Given the description of an element on the screen output the (x, y) to click on. 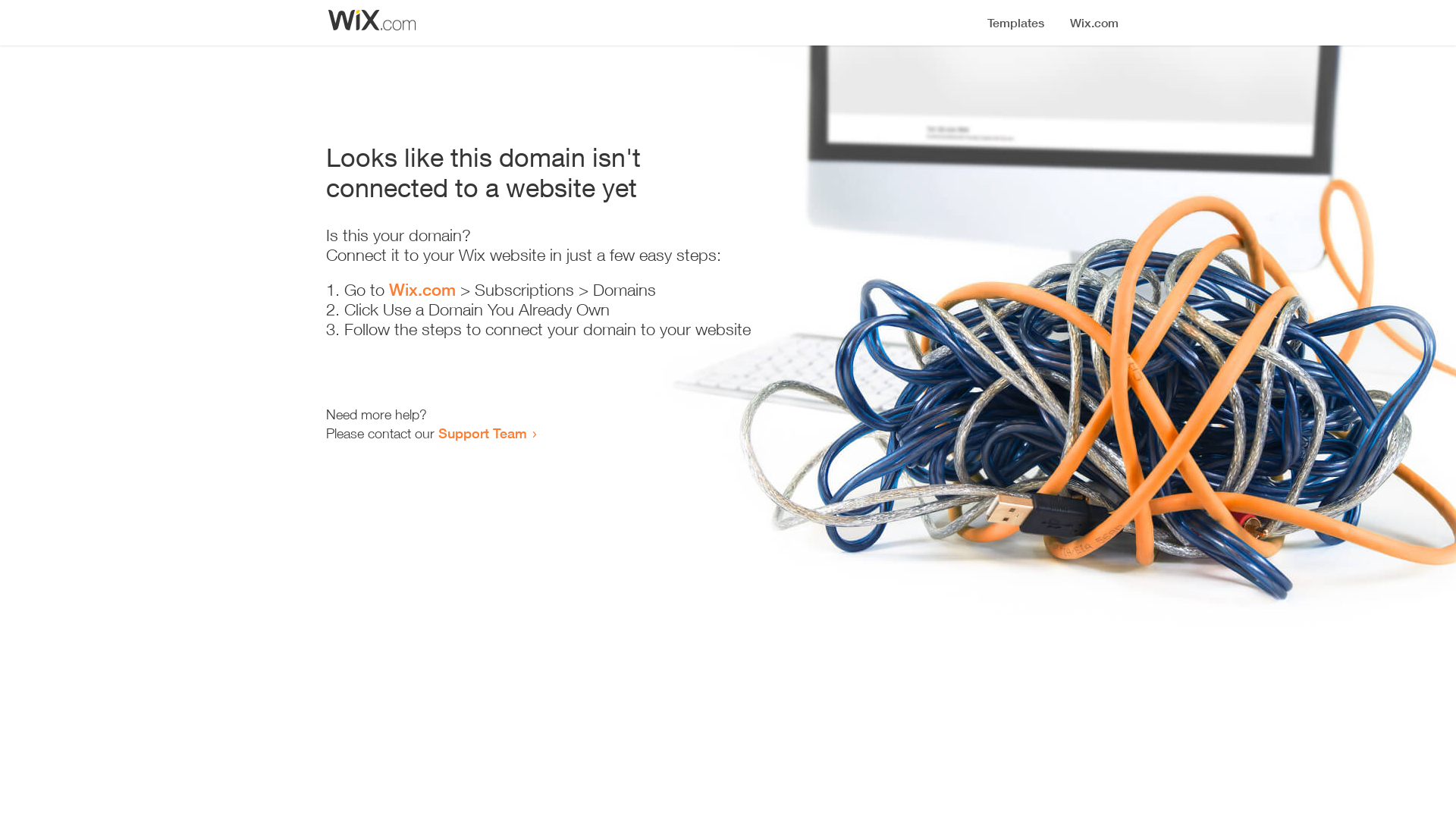
Support Team Element type: text (482, 432)
Wix.com Element type: text (422, 289)
